Given the description of an element on the screen output the (x, y) to click on. 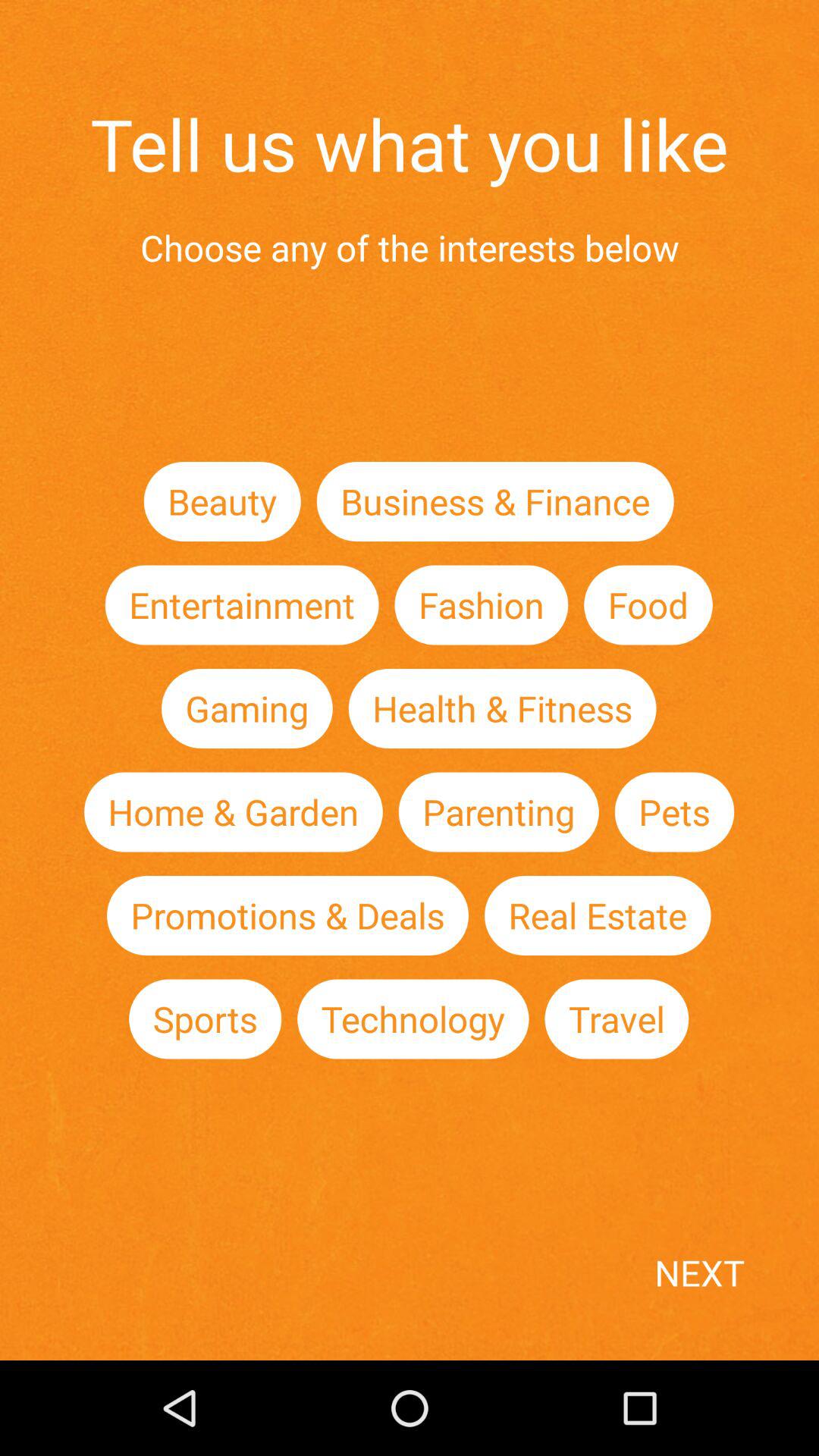
launch icon next to technology icon (205, 1019)
